Given the description of an element on the screen output the (x, y) to click on. 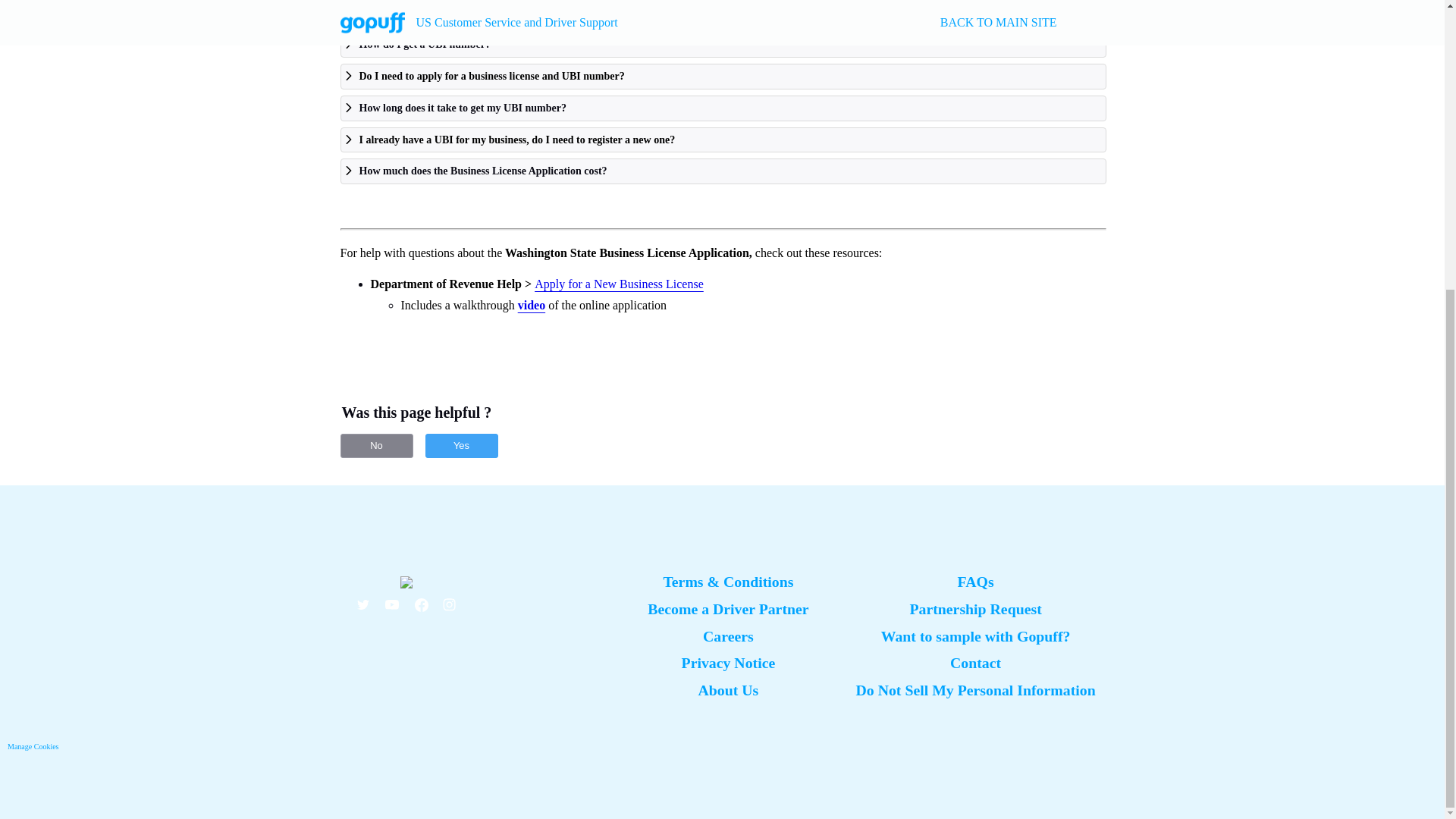
Partnership Request (974, 608)
About Us (728, 689)
Want to sample with Gopuff? (975, 636)
FAQs (976, 581)
No (375, 445)
Yes (461, 445)
Manage Cookies (33, 746)
 Apply for a New Business License (617, 283)
Become a Driver Partner (727, 608)
Careers (728, 636)
